Given the description of an element on the screen output the (x, y) to click on. 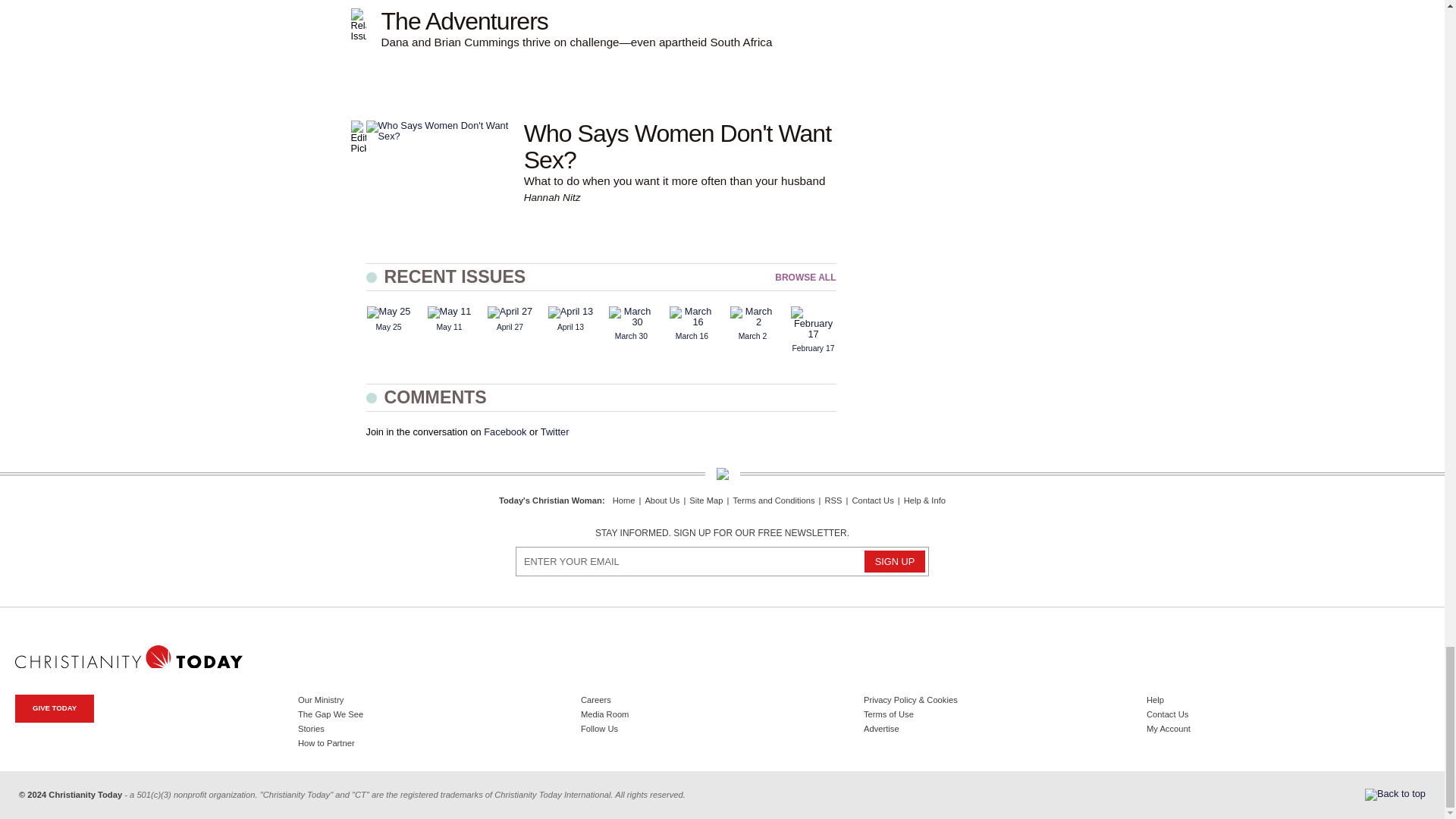
Who Says Women Don't Want Sex? (436, 130)
March 16 (691, 316)
Sign Up (894, 561)
March 30 (630, 316)
May 11 (449, 312)
April 27 (509, 312)
March 2 (751, 316)
February 17 (812, 322)
April 13 (570, 312)
May 25 (388, 312)
